Given the description of an element on the screen output the (x, y) to click on. 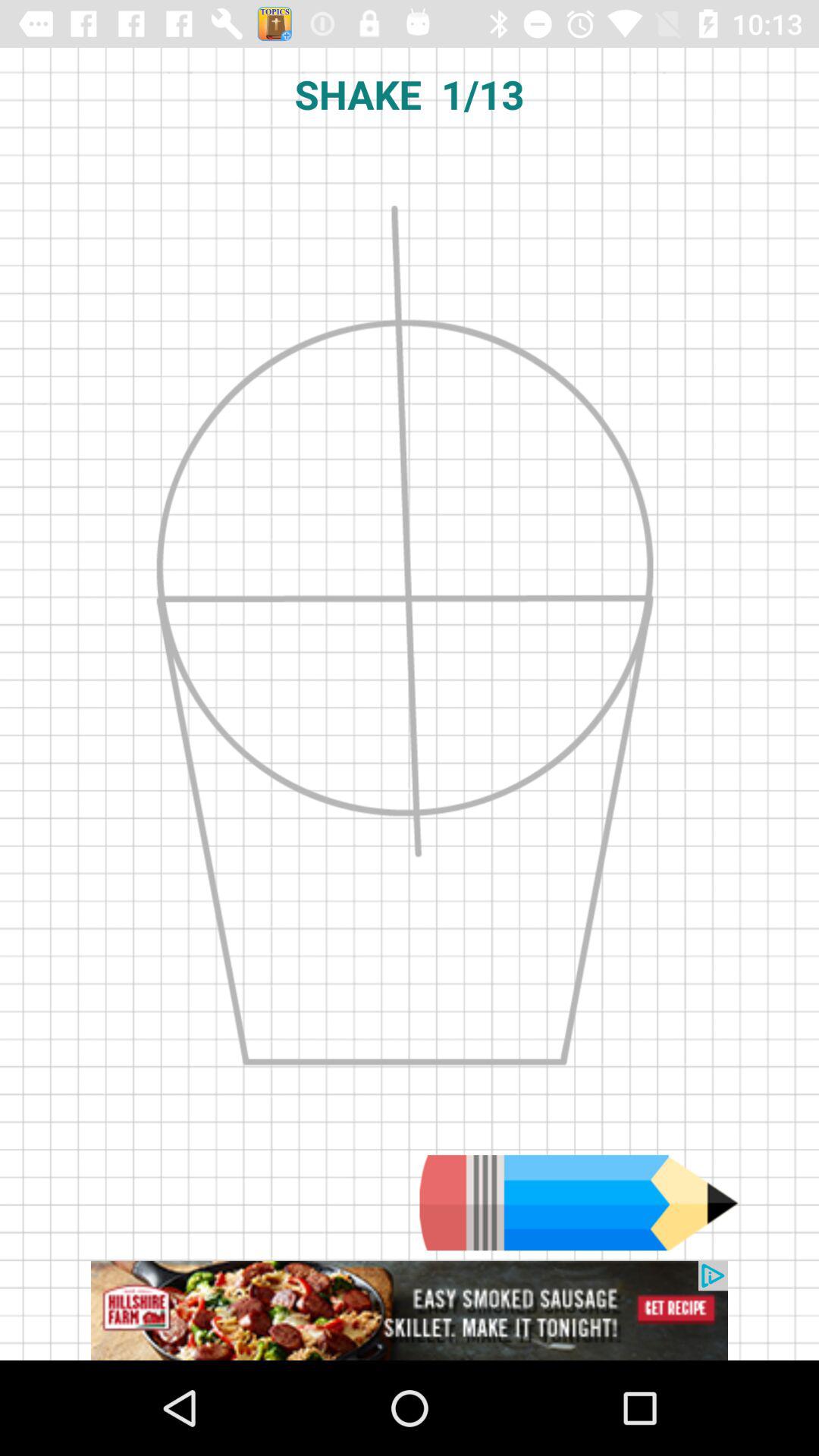
use pencil (578, 1202)
